Given the description of an element on the screen output the (x, y) to click on. 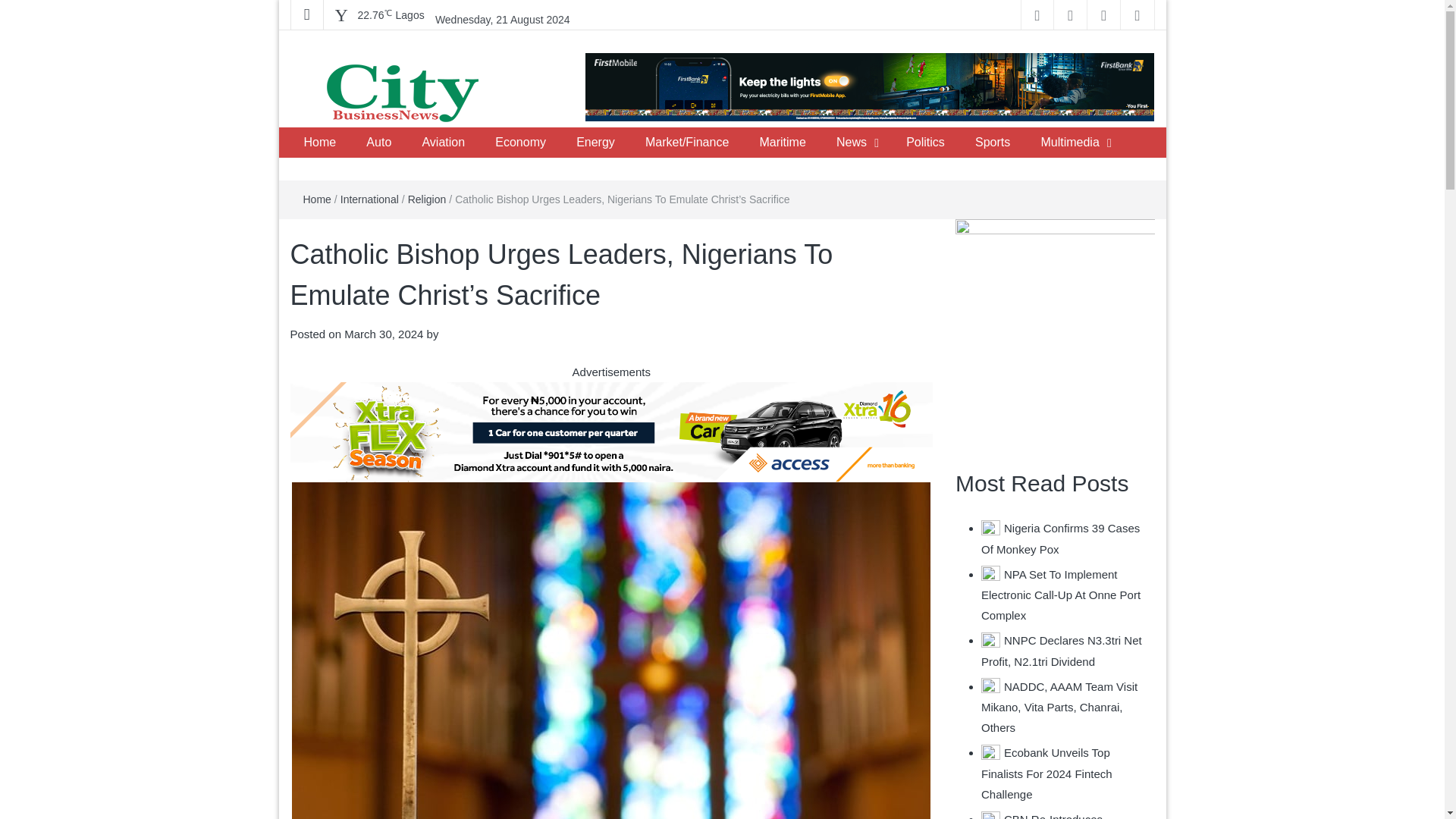
Aviation (443, 142)
Auto (378, 142)
Maritime (781, 142)
Clouds (391, 14)
City Business News (410, 142)
Energy (595, 142)
News (851, 142)
Economy (520, 142)
Home (319, 142)
